Given the description of an element on the screen output the (x, y) to click on. 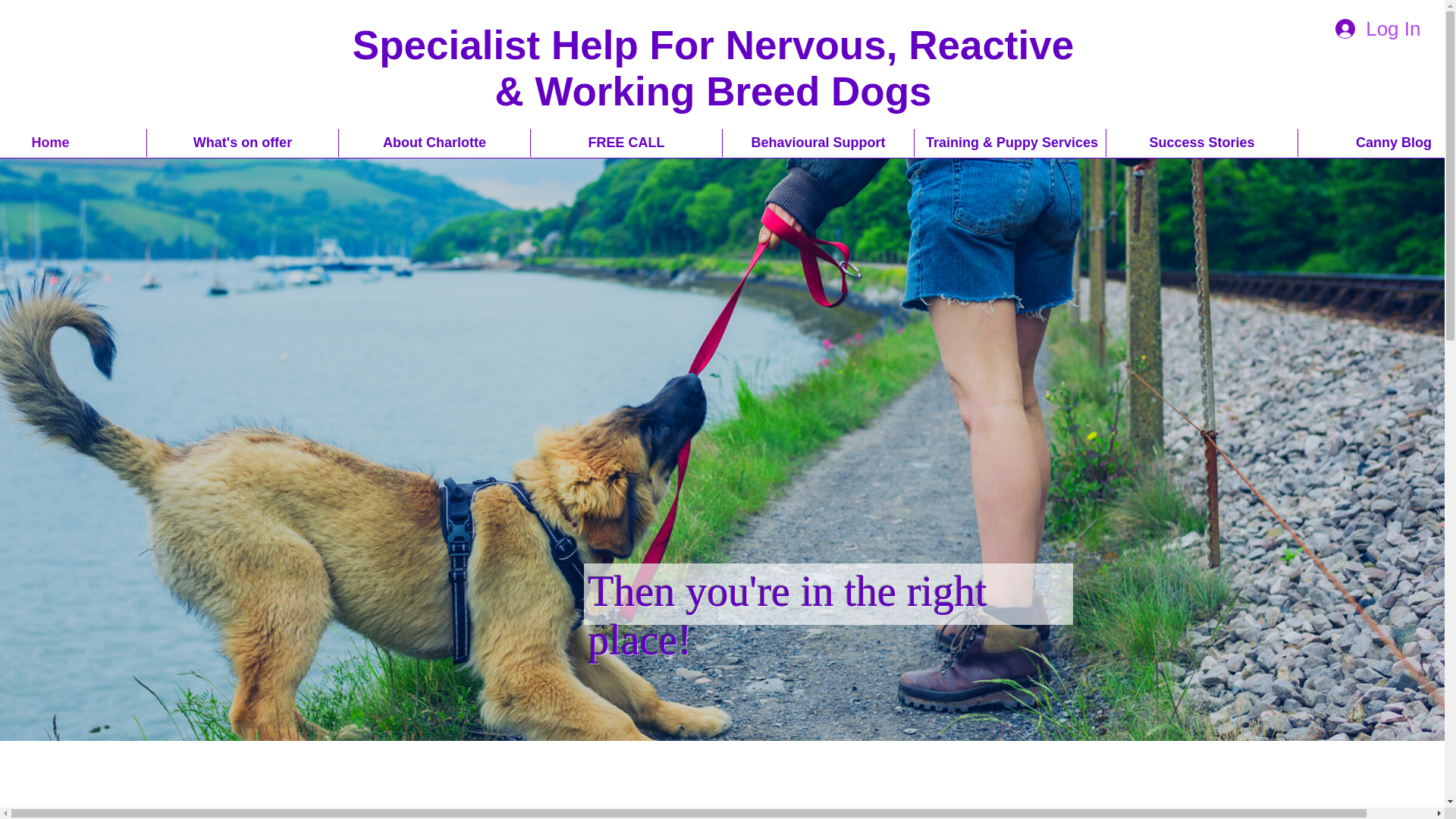
Success Stories (1201, 142)
Home (73, 142)
Canny Blog (1377, 142)
Log In (1377, 28)
About Charlotte (434, 142)
FREE CALL (626, 142)
Behavioural Support (818, 142)
What's on offer (242, 142)
